Given the description of an element on the screen output the (x, y) to click on. 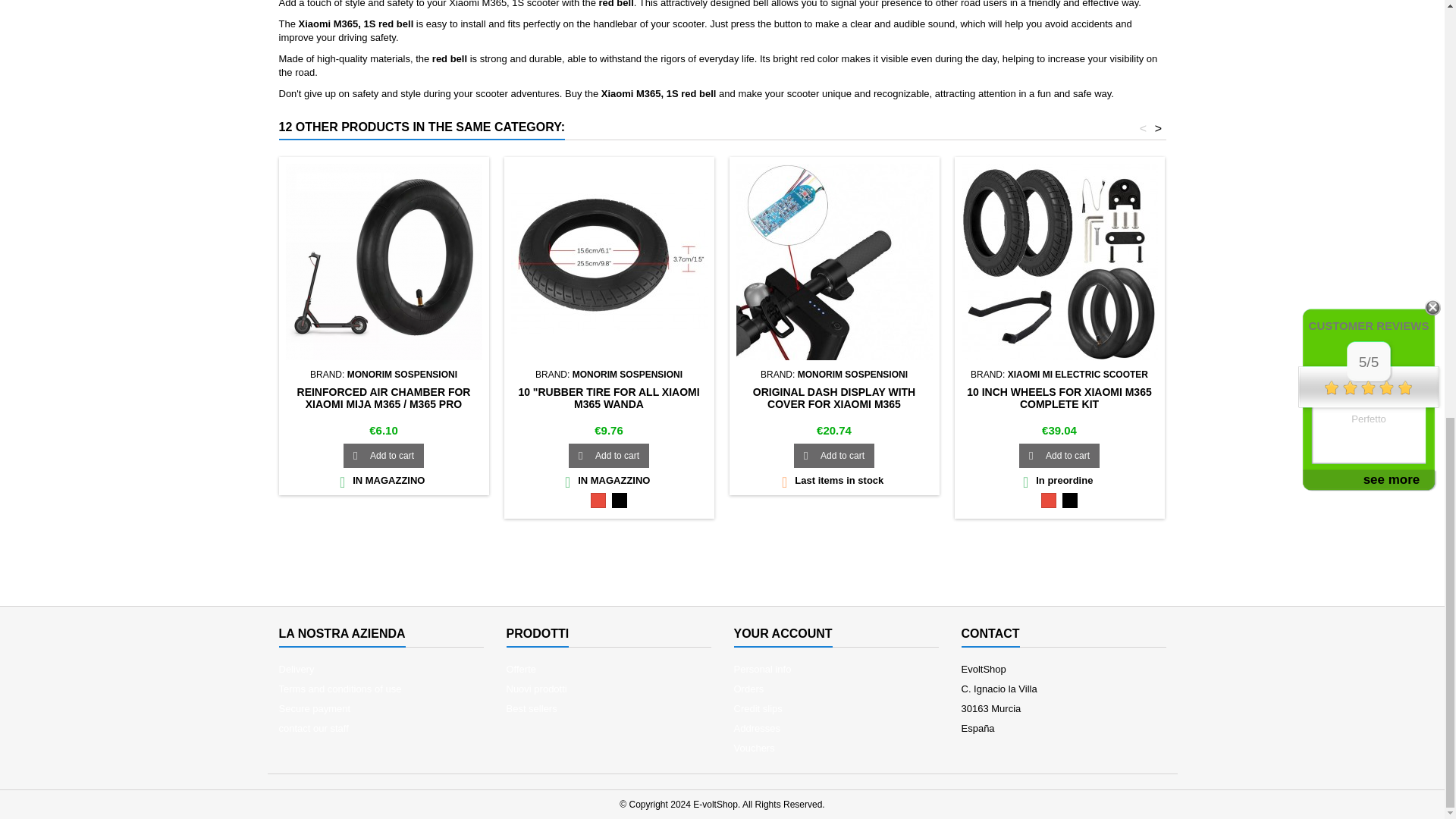
Rosso (598, 500)
Nero (619, 500)
